Given the description of an element on the screen output the (x, y) to click on. 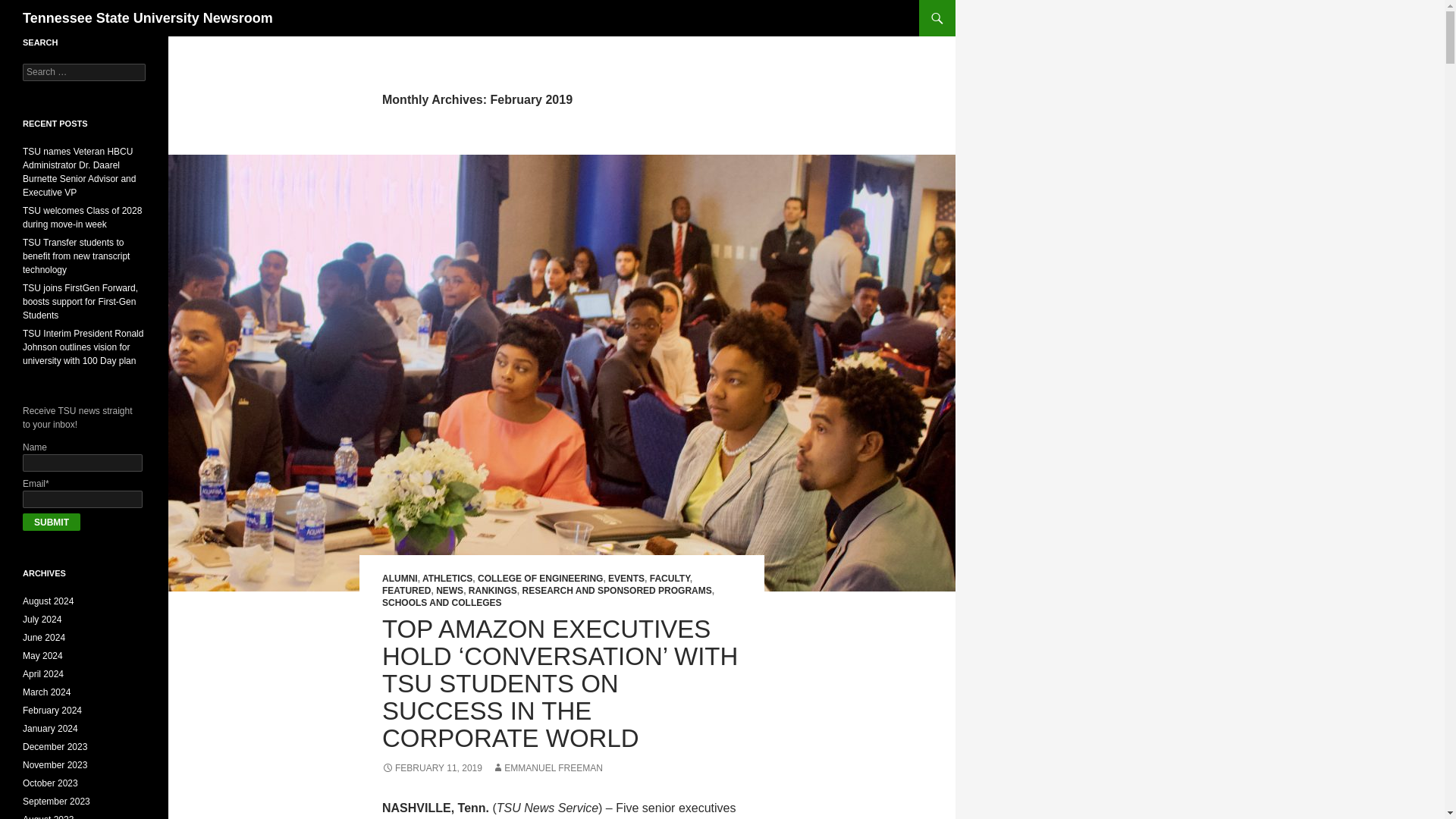
RANKINGS (492, 590)
Tennessee State University Newsroom (148, 18)
ATHLETICS (446, 578)
ALUMNI (399, 578)
Submit (51, 521)
FACULTY (669, 578)
SCHOOLS AND COLLEGES (441, 602)
FEATURED (405, 590)
NEWS (449, 590)
EVENTS (626, 578)
